Given the description of an element on the screen output the (x, y) to click on. 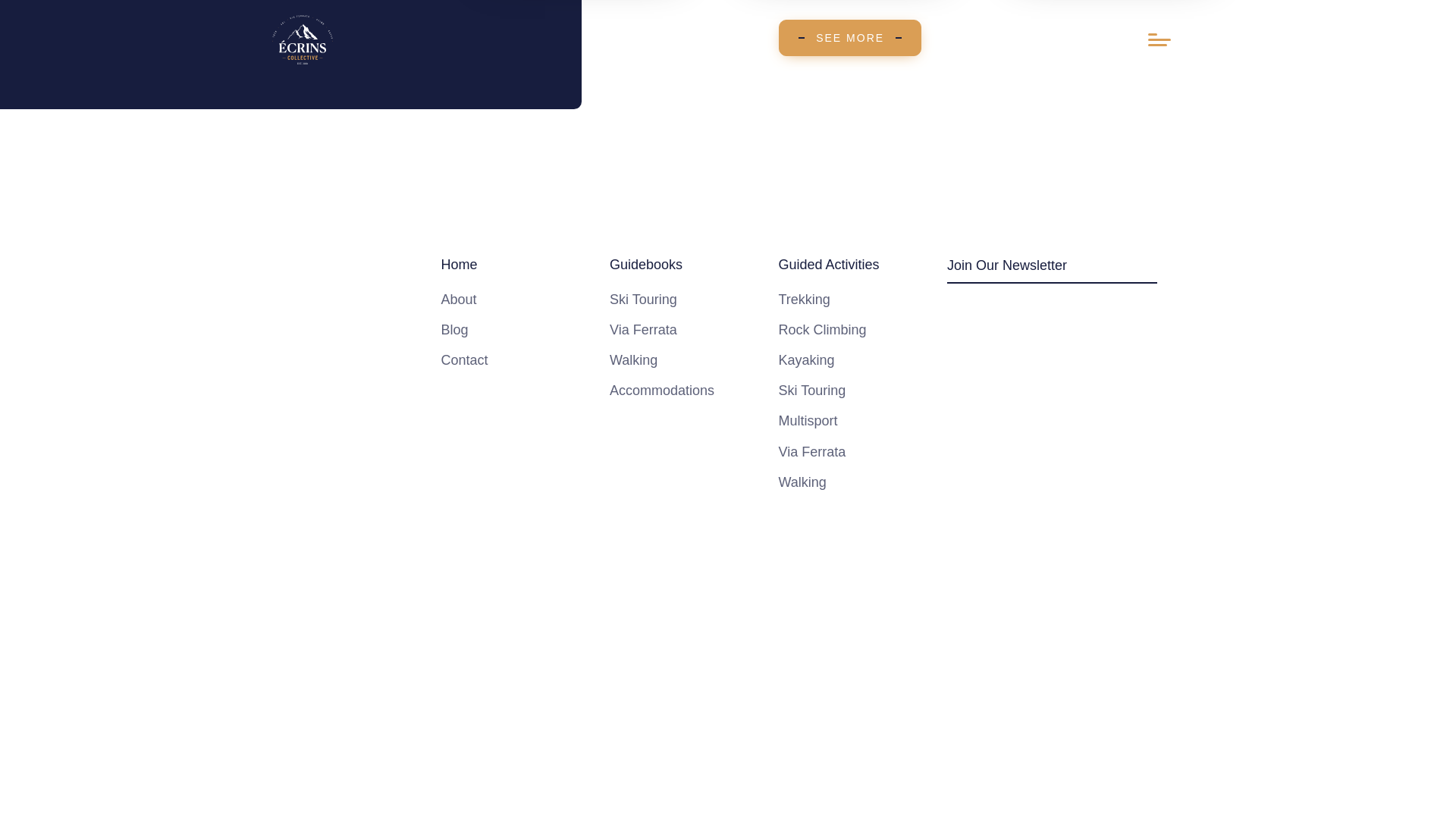
Home (519, 264)
SEE MORE (849, 37)
